Given the description of an element on the screen output the (x, y) to click on. 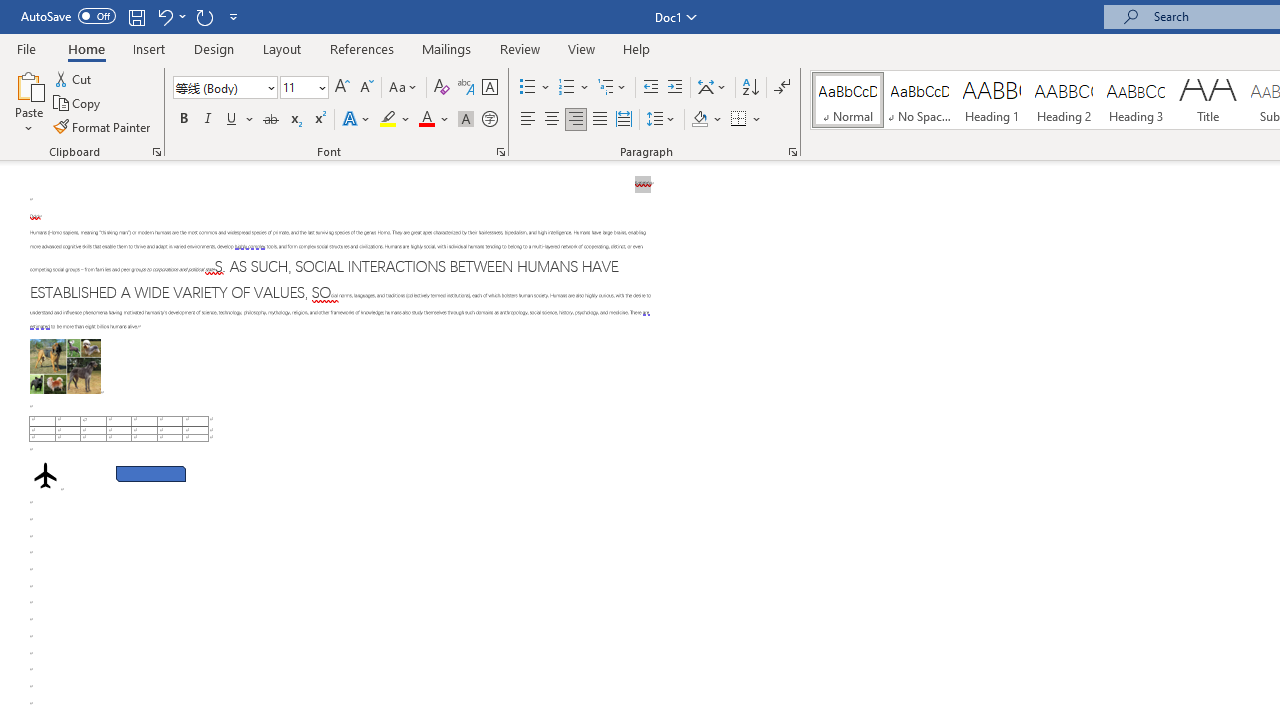
Rectangle: Diagonal Corners Snipped 2 (150, 473)
Morphological variation in six dogs (65, 366)
